Given the description of an element on the screen output the (x, y) to click on. 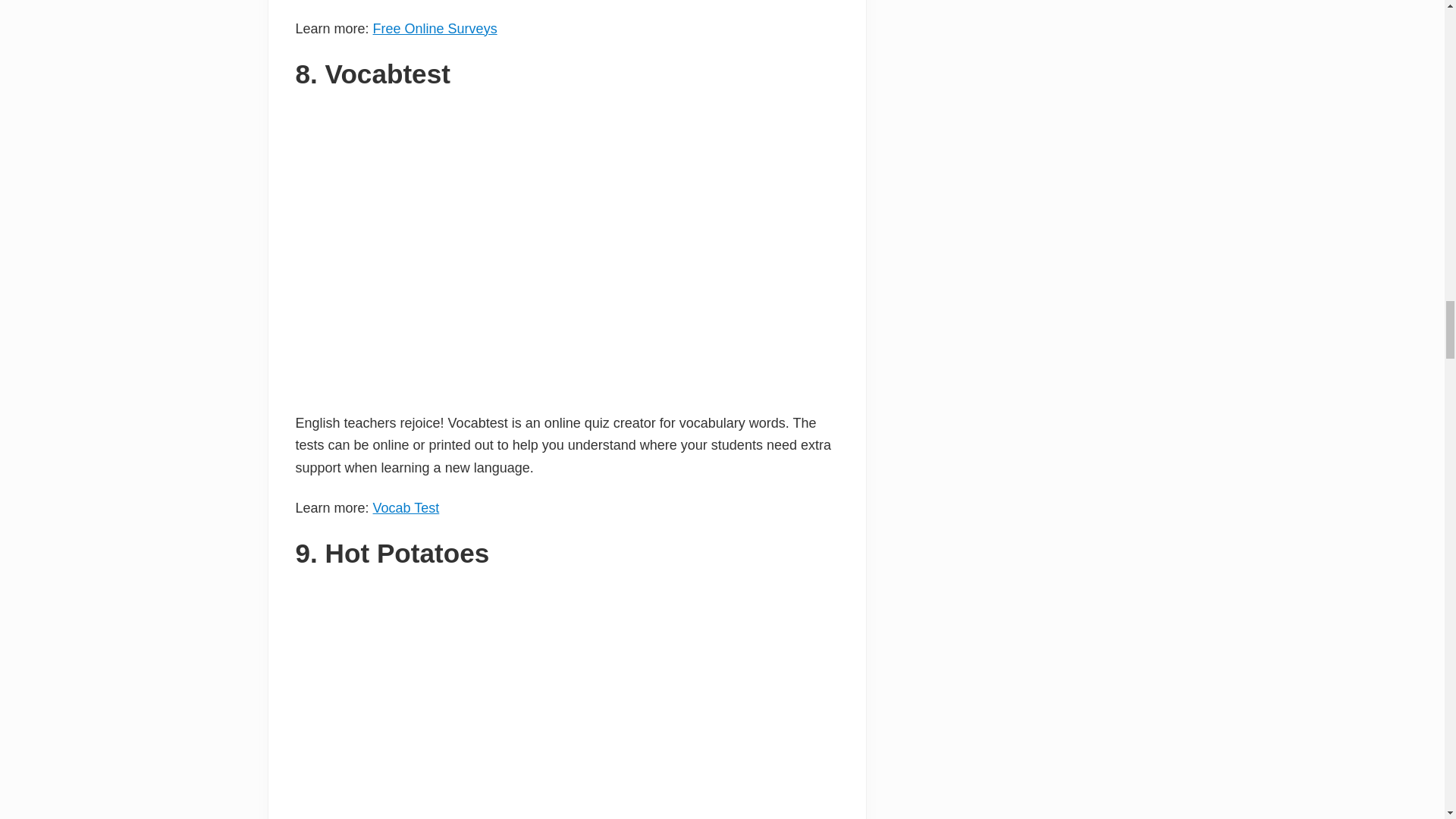
Free Online Surveys (434, 28)
Vocab Test (405, 507)
